Given the description of an element on the screen output the (x, y) to click on. 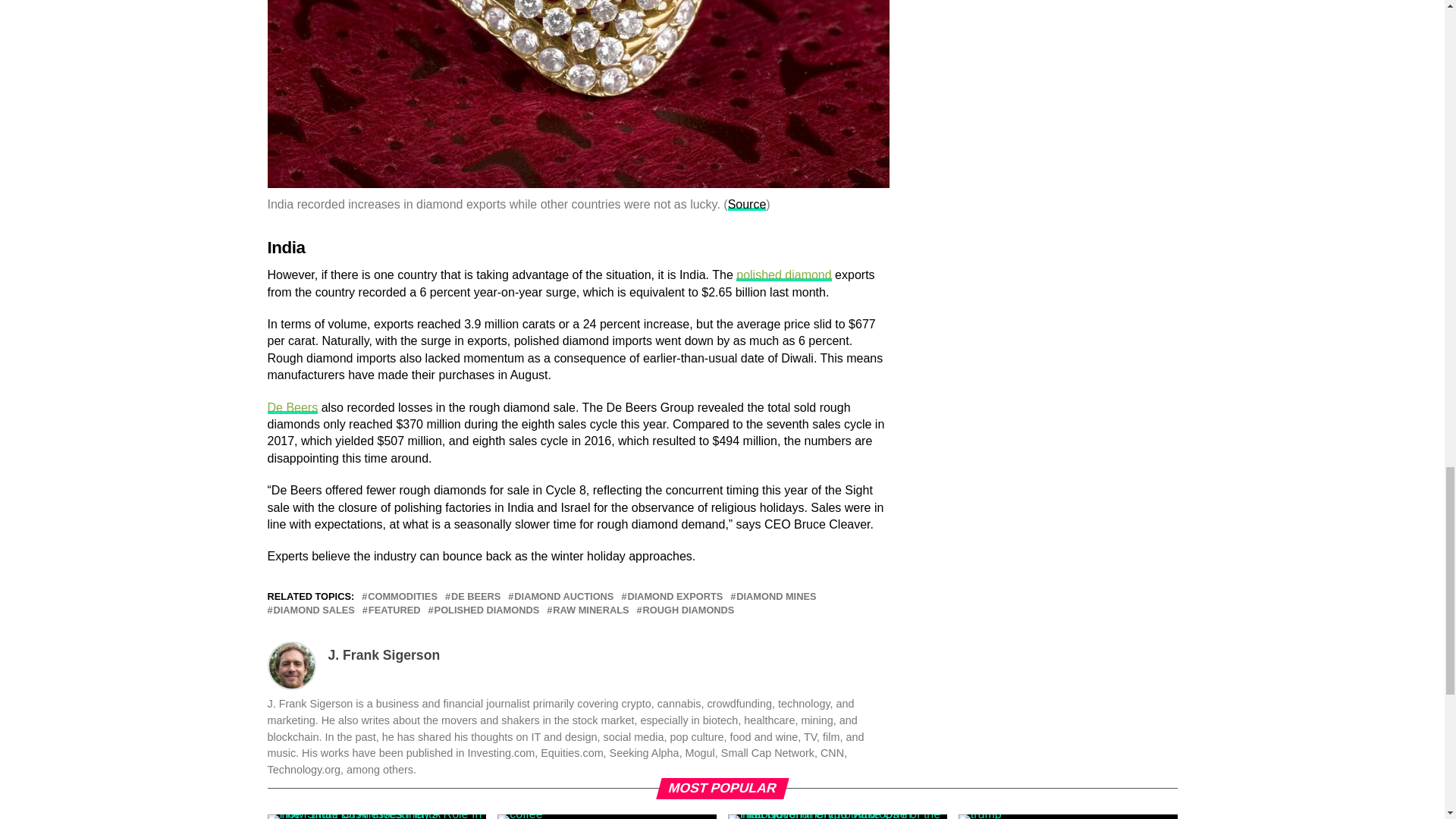
COMMODITIES (403, 596)
Source (747, 204)
Posts by J. Frank Sigerson (383, 654)
polished diamond (783, 274)
De Beers (291, 407)
DE BEERS (475, 596)
